Given the description of an element on the screen output the (x, y) to click on. 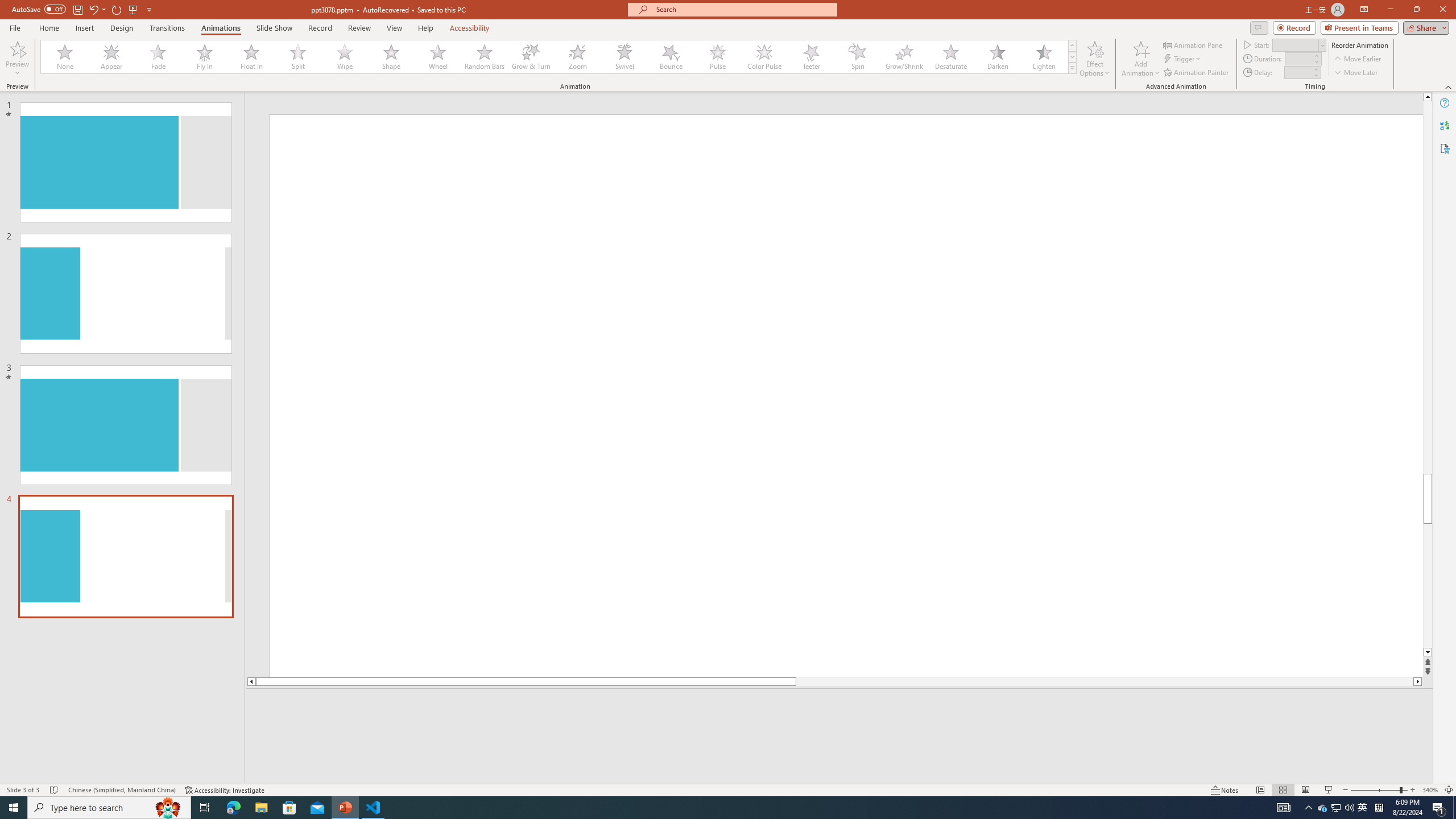
Animation Painter (1196, 72)
More (1315, 69)
Random Bars (484, 56)
Swivel (624, 56)
